Given the description of an element on the screen output the (x, y) to click on. 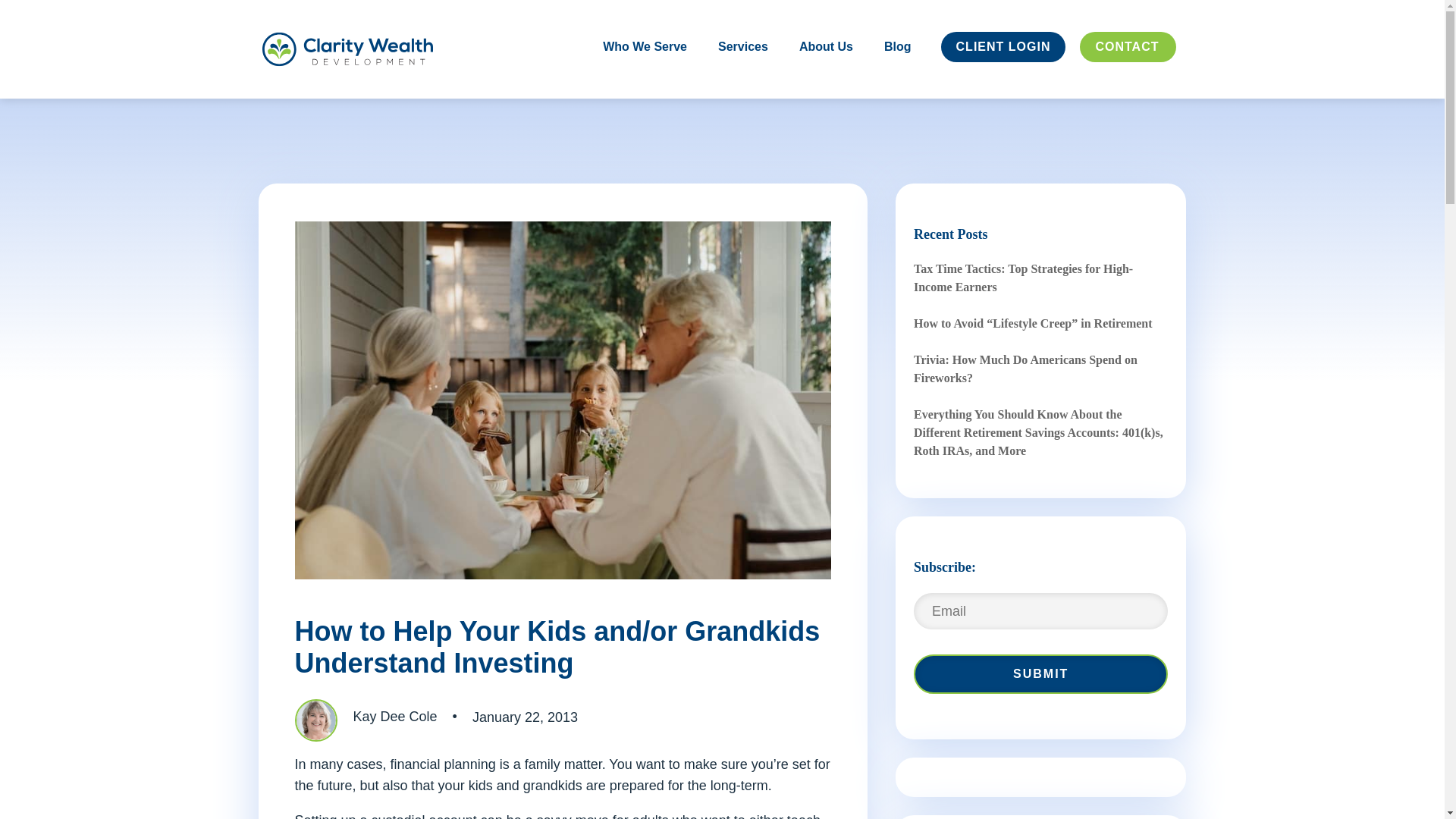
CLIENT LOGIN (1003, 67)
CONTACT (1126, 67)
Services (742, 69)
Who We Serve (644, 67)
Blog (897, 69)
About Us (826, 67)
Trivia: How Much Do Americans Spend on Fireworks? (1025, 368)
Submit (1041, 673)
Submit (1041, 673)
Tax Time Tactics: Top Strategies for High-Income Earners (1023, 277)
